Given the description of an element on the screen output the (x, y) to click on. 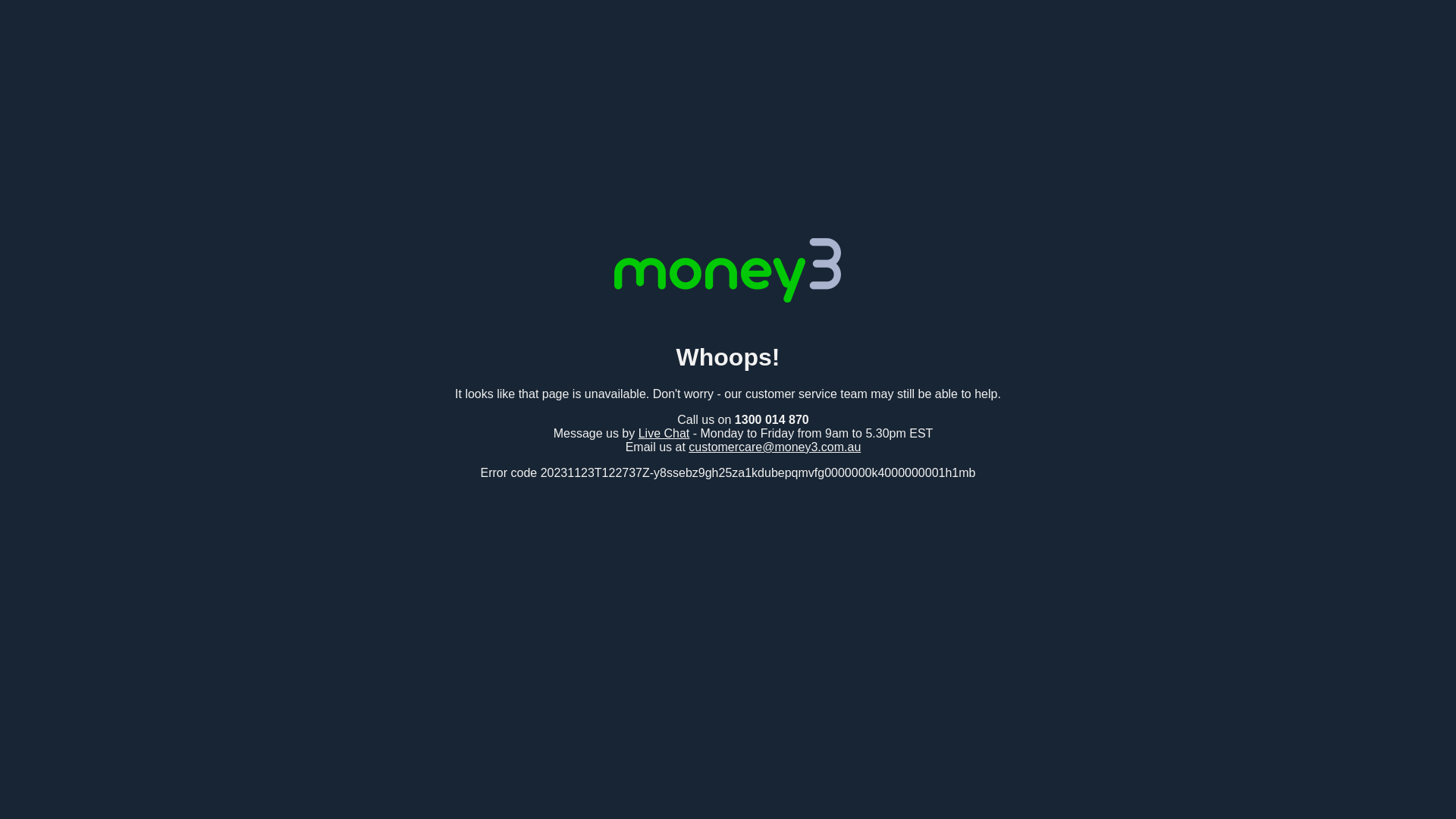
Live Chat Element type: text (664, 432)
customercare@money3.com.au Element type: text (774, 446)
